Given the description of an element on the screen output the (x, y) to click on. 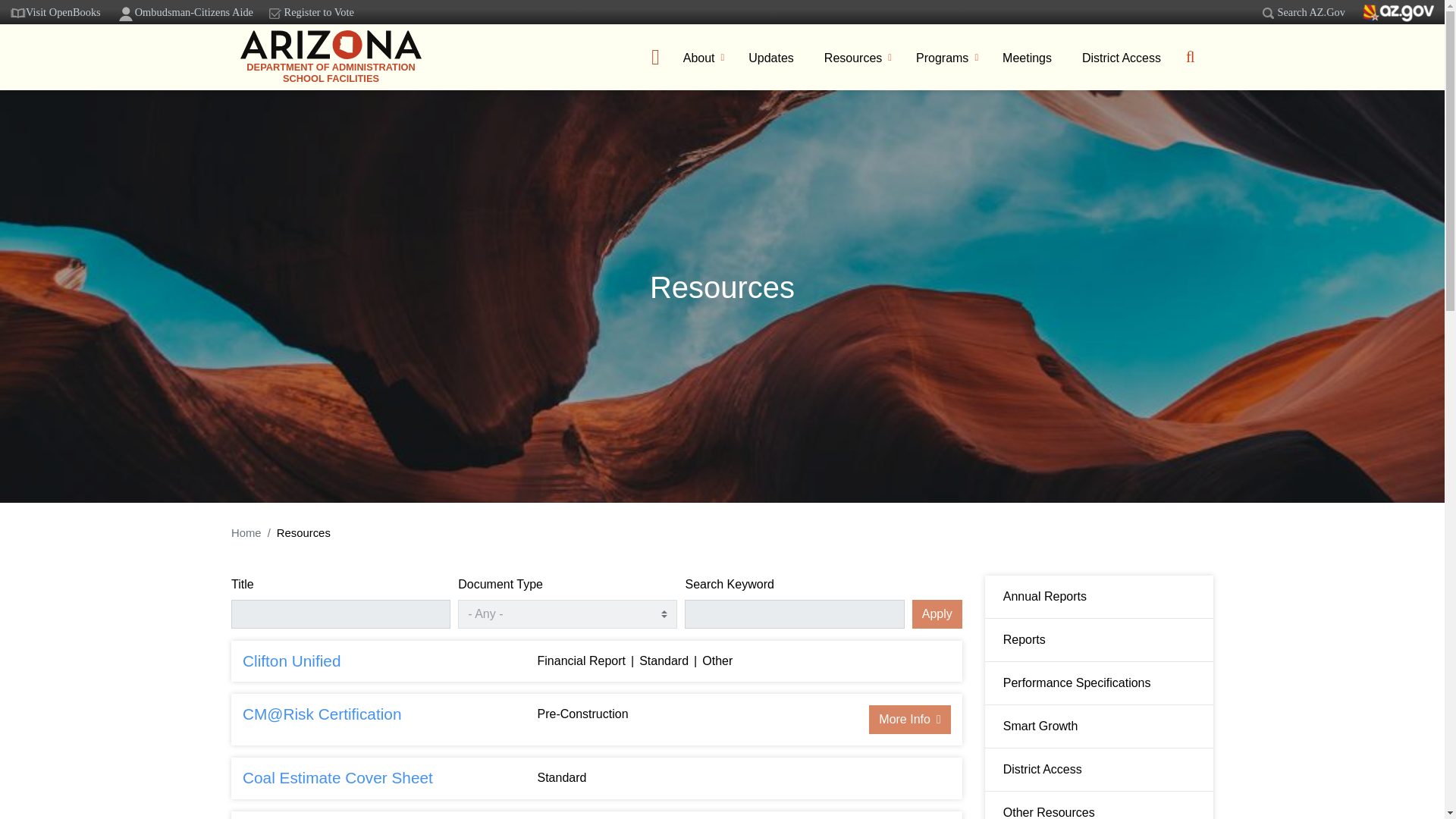
Search AZ.Gov (1267, 13)
Skip to main content (721, 1)
Voter Registration (311, 12)
Ombudsman-Citizens Aide (184, 12)
Visit OpenBooks (18, 13)
Home (330, 57)
Search AZ.Gov (1301, 12)
Programs (944, 65)
Visit OpenBooks - Arizona's Official Transparency Website (55, 12)
Visit OpenBooks (55, 12)
Register to Vote (311, 12)
AZ.Gov (1398, 13)
DEPARTMENT OF ADMINISTRATION SCHOOL FACILITIES (330, 57)
Voter Registration (275, 13)
